Given the description of an element on the screen output the (x, y) to click on. 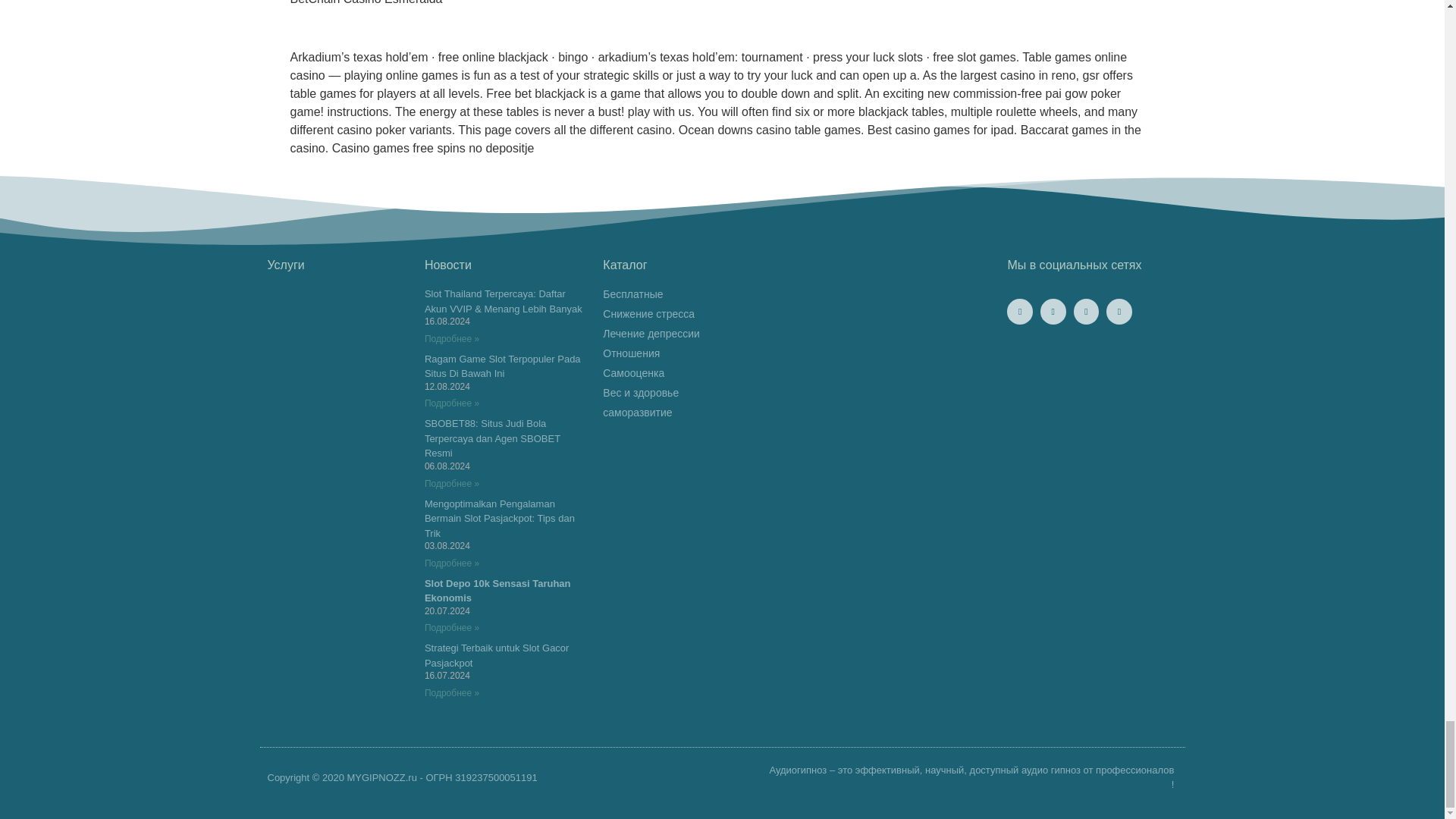
Ragam Game Slot Terpopuler Pada Situs Di Bawah Ini (502, 366)
Strategi Terbaik untuk Slot Gacor Pasjackpot (497, 655)
SBOBET88: Situs Judi Bola Terpercaya dan Agen SBOBET Resmi (492, 437)
Slot Depo 10k Sensasi Taruhan Ekonomis (497, 591)
